Given the description of an element on the screen output the (x, y) to click on. 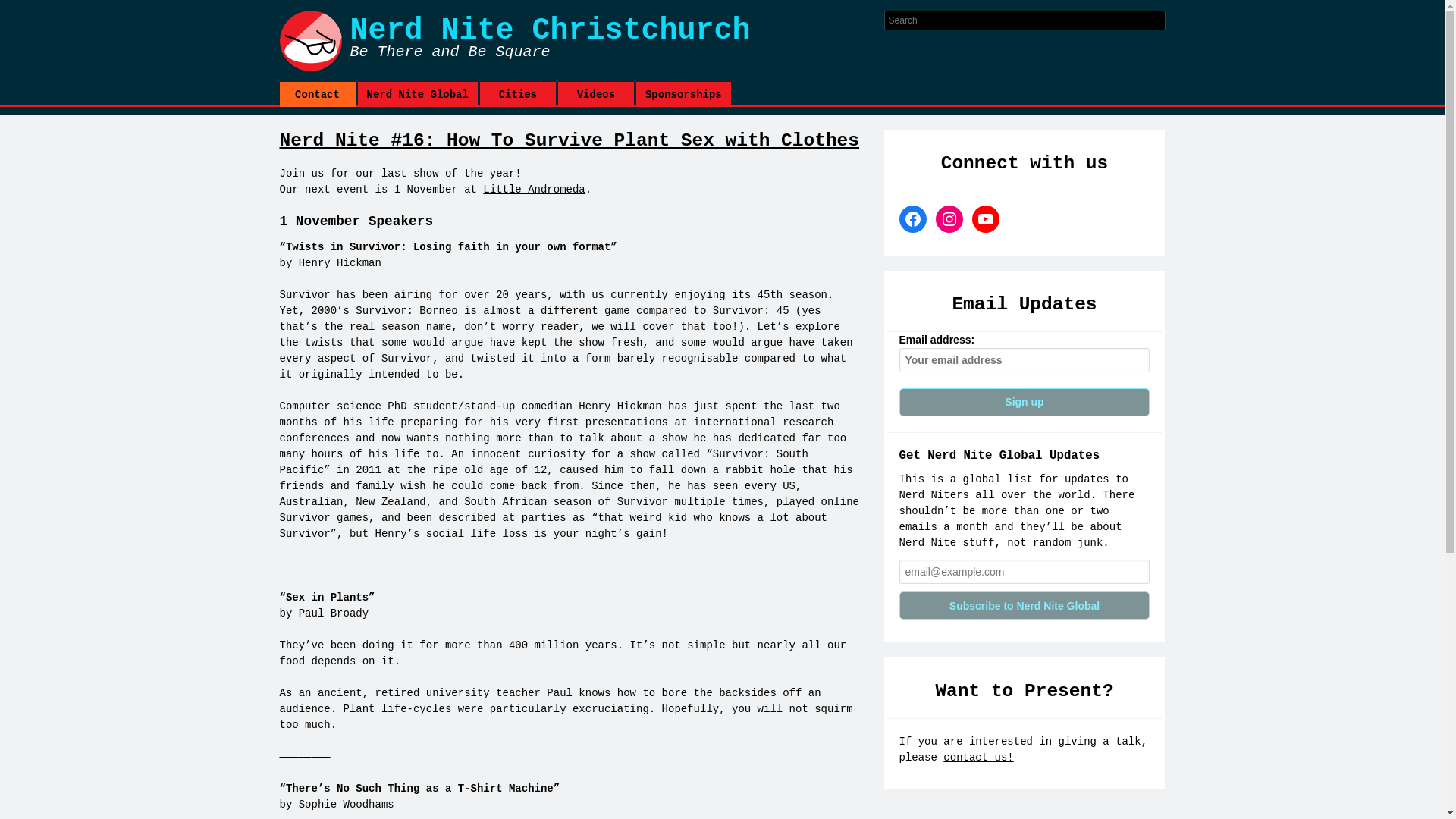
home (580, 40)
Search (361, 12)
Search (361, 13)
YouTube (985, 218)
Little Andromeda (534, 189)
Nerd Nite Global (417, 94)
Facebook (912, 218)
Instagram (949, 218)
Videos (595, 94)
Contact (317, 94)
